Given the description of an element on the screen output the (x, y) to click on. 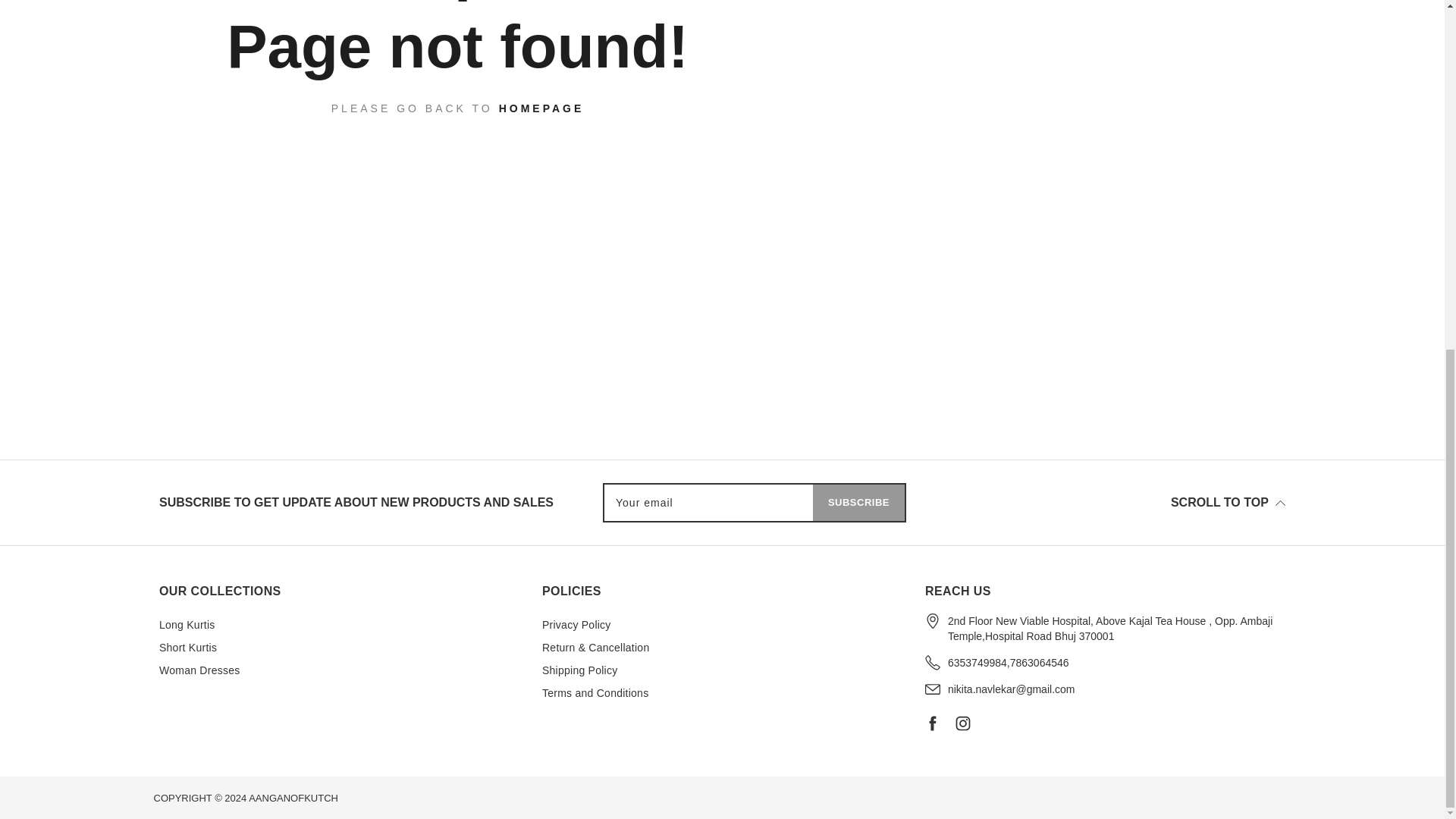
PLEASE GO BACK TO HOMEPAGE (458, 107)
SCROLL TO TOP (1227, 502)
Long Kurtis (186, 624)
SUBSCRIBE (858, 502)
SCROLL TO TOP (1100, 502)
SCROLL TO TOP (1227, 502)
